Given the description of an element on the screen output the (x, y) to click on. 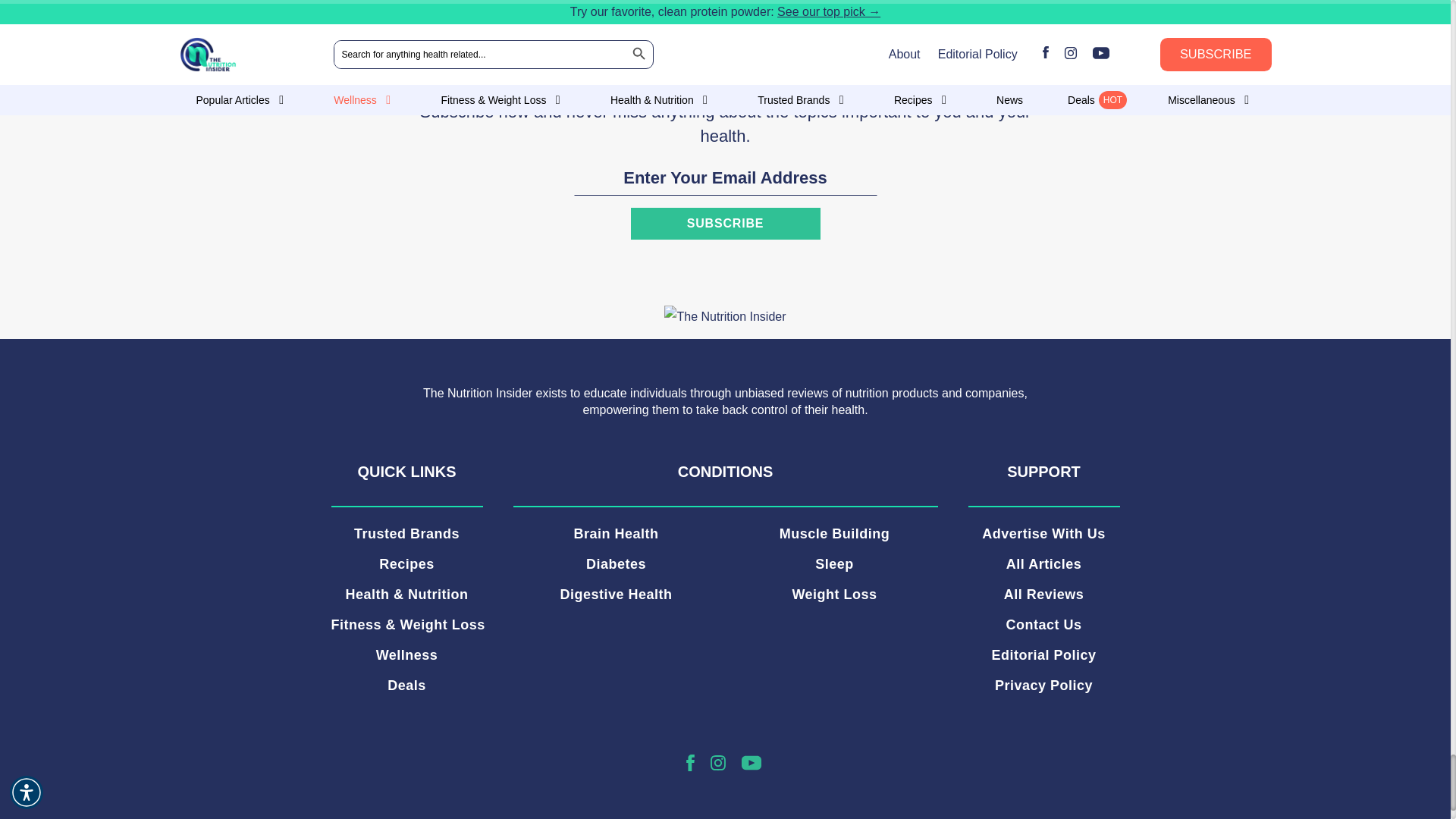
Subscribe (725, 223)
